Given the description of an element on the screen output the (x, y) to click on. 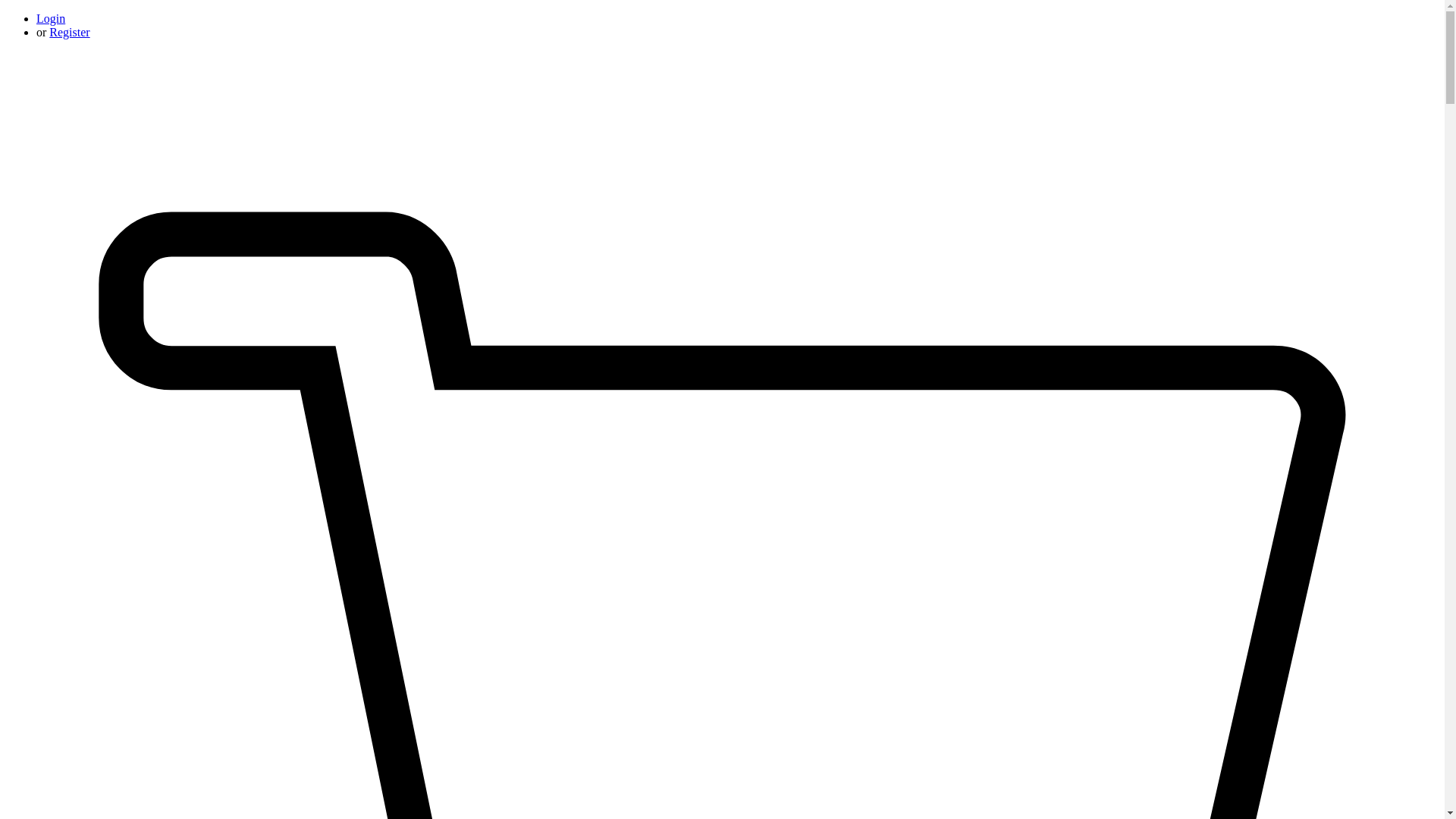
Register (68, 31)
Login (50, 18)
